Given the description of an element on the screen output the (x, y) to click on. 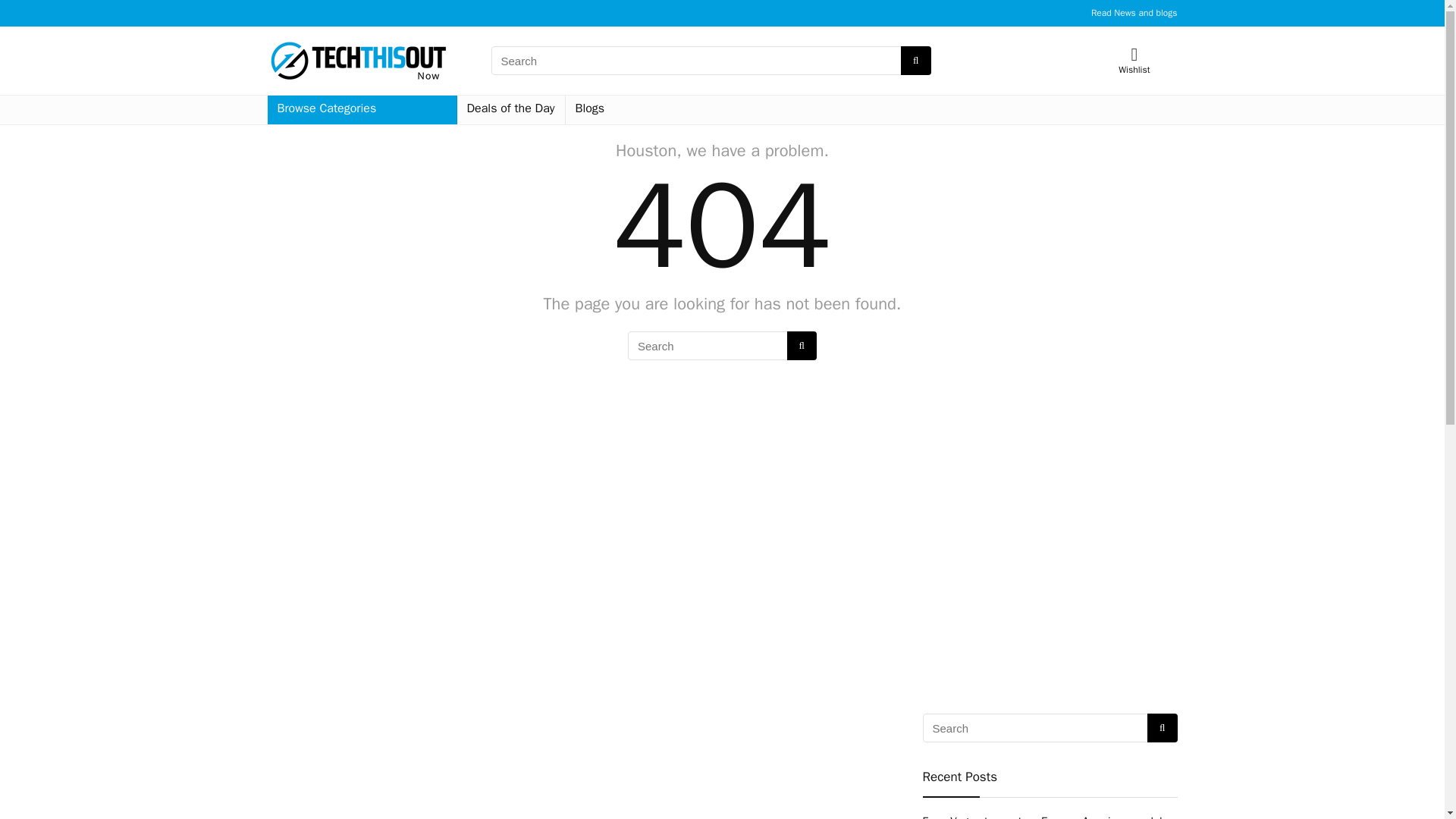
Deals of the Day (510, 109)
Blogs (590, 109)
Browse Categories (360, 109)
Read News and blogs (1133, 12)
